Given the description of an element on the screen output the (x, y) to click on. 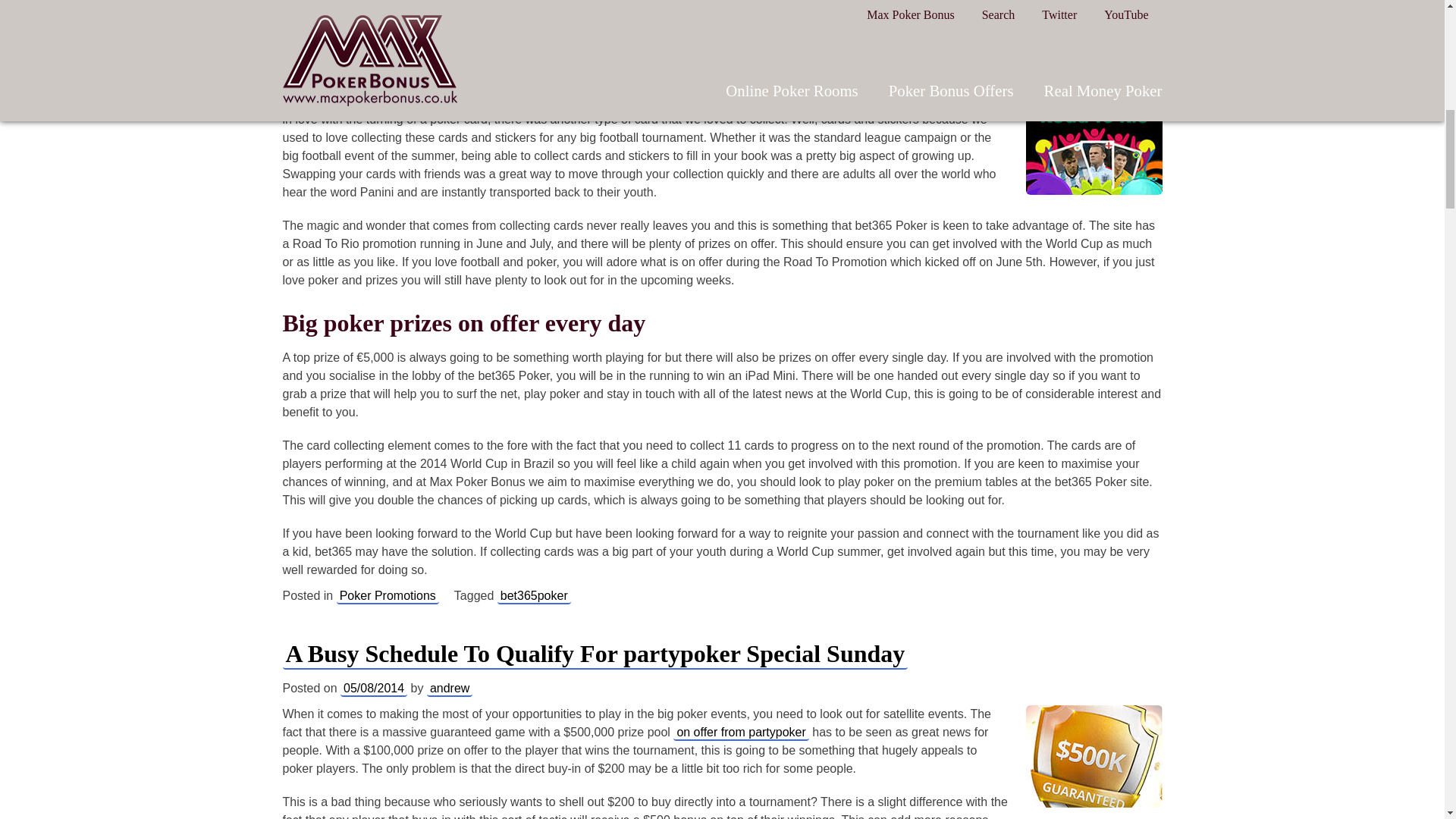
Poker Promotions (387, 596)
A Busy Schedule To Qualify For partypoker Special Sunday (594, 653)
andrew (448, 688)
andrew (448, 75)
bet365poker (533, 596)
Max Poker Bonus (347, 101)
on offer from partypoker (740, 732)
Collect Cards And Be A Poker Winner (483, 40)
